Given the description of an element on the screen output the (x, y) to click on. 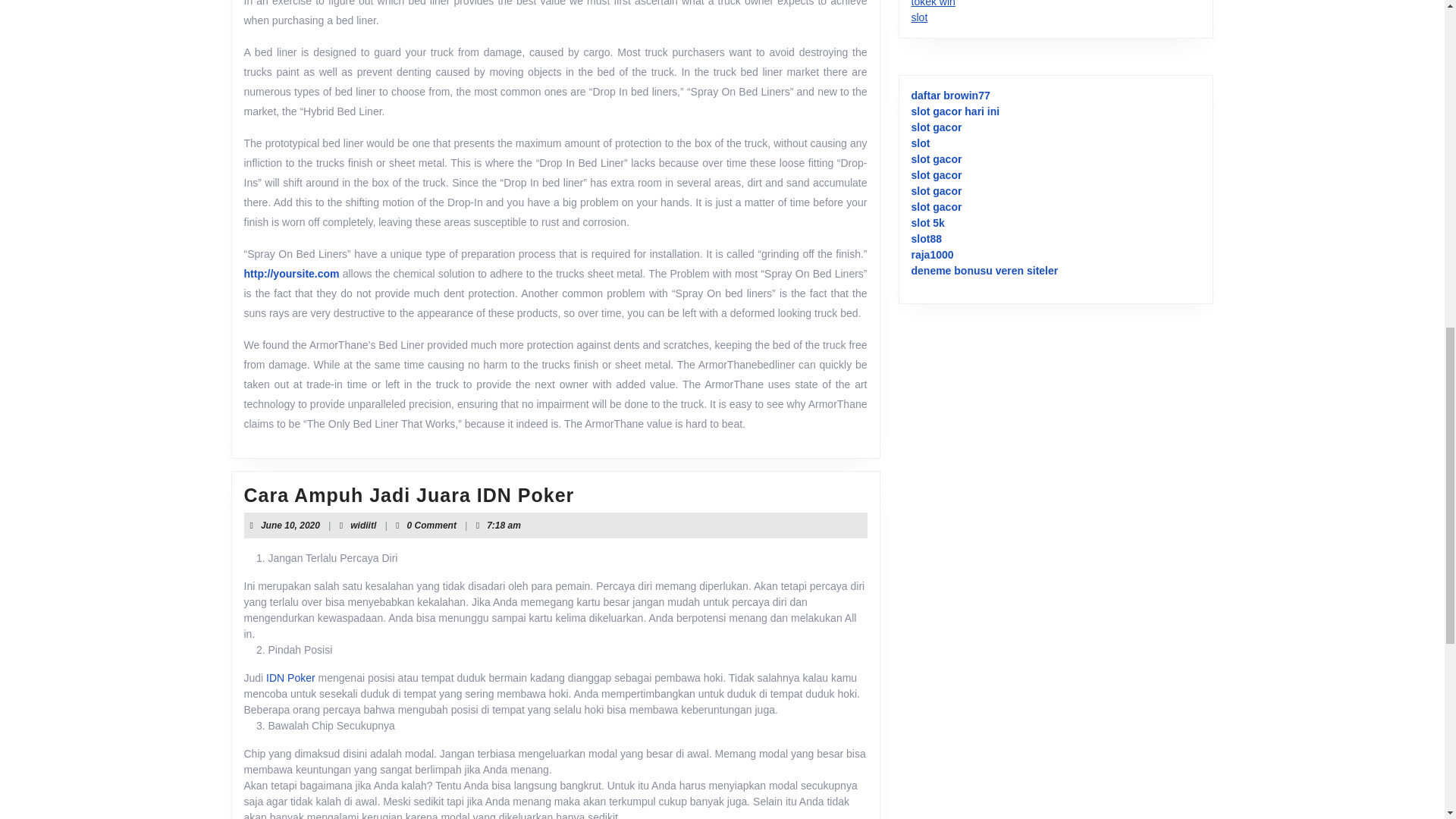
slot (290, 525)
tokek win (919, 17)
IDN Poker (933, 3)
